Given the description of an element on the screen output the (x, y) to click on. 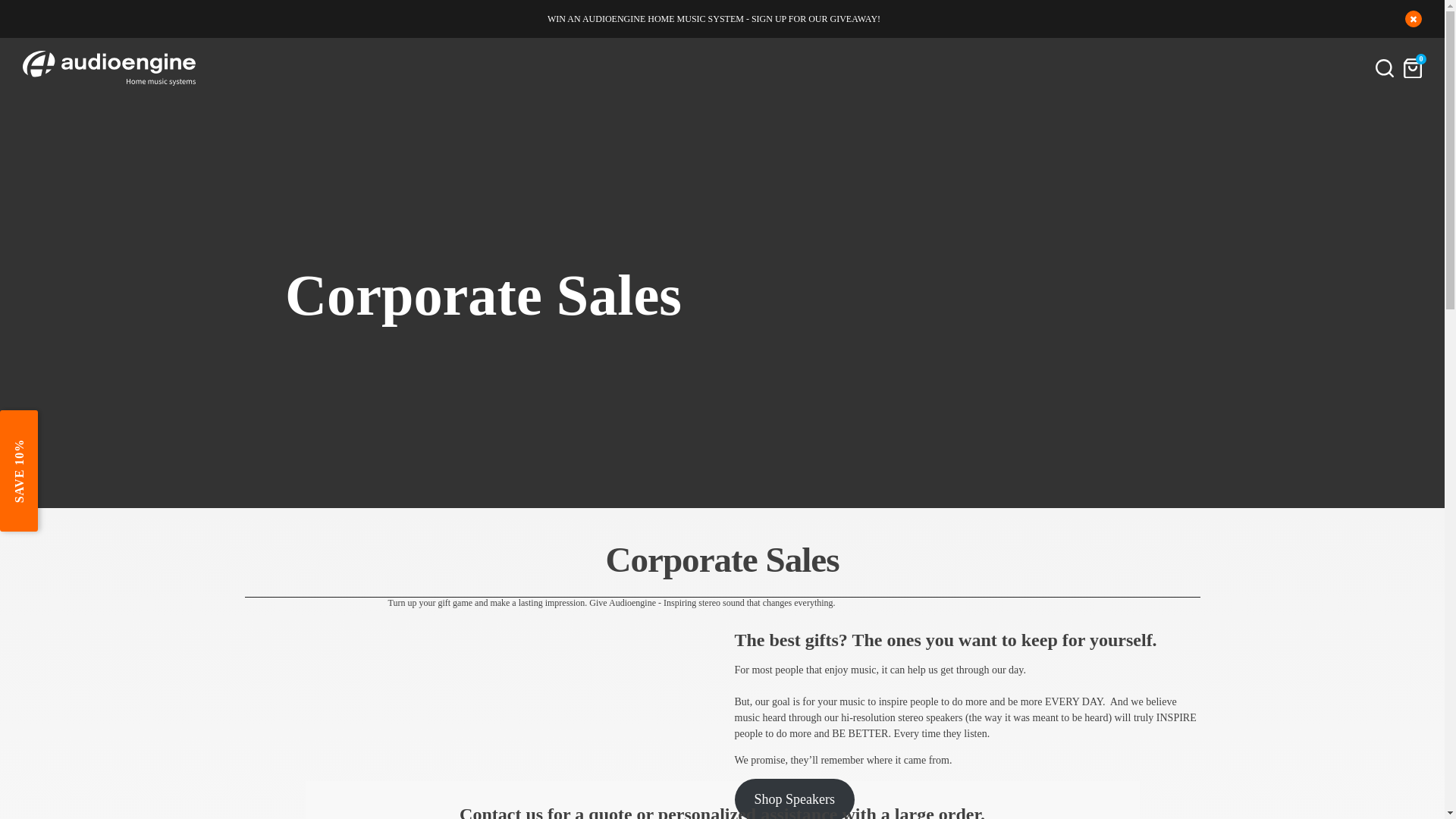
audioengine - link to home (109, 67)
Shop Speakers (793, 798)
